Given the description of an element on the screen output the (x, y) to click on. 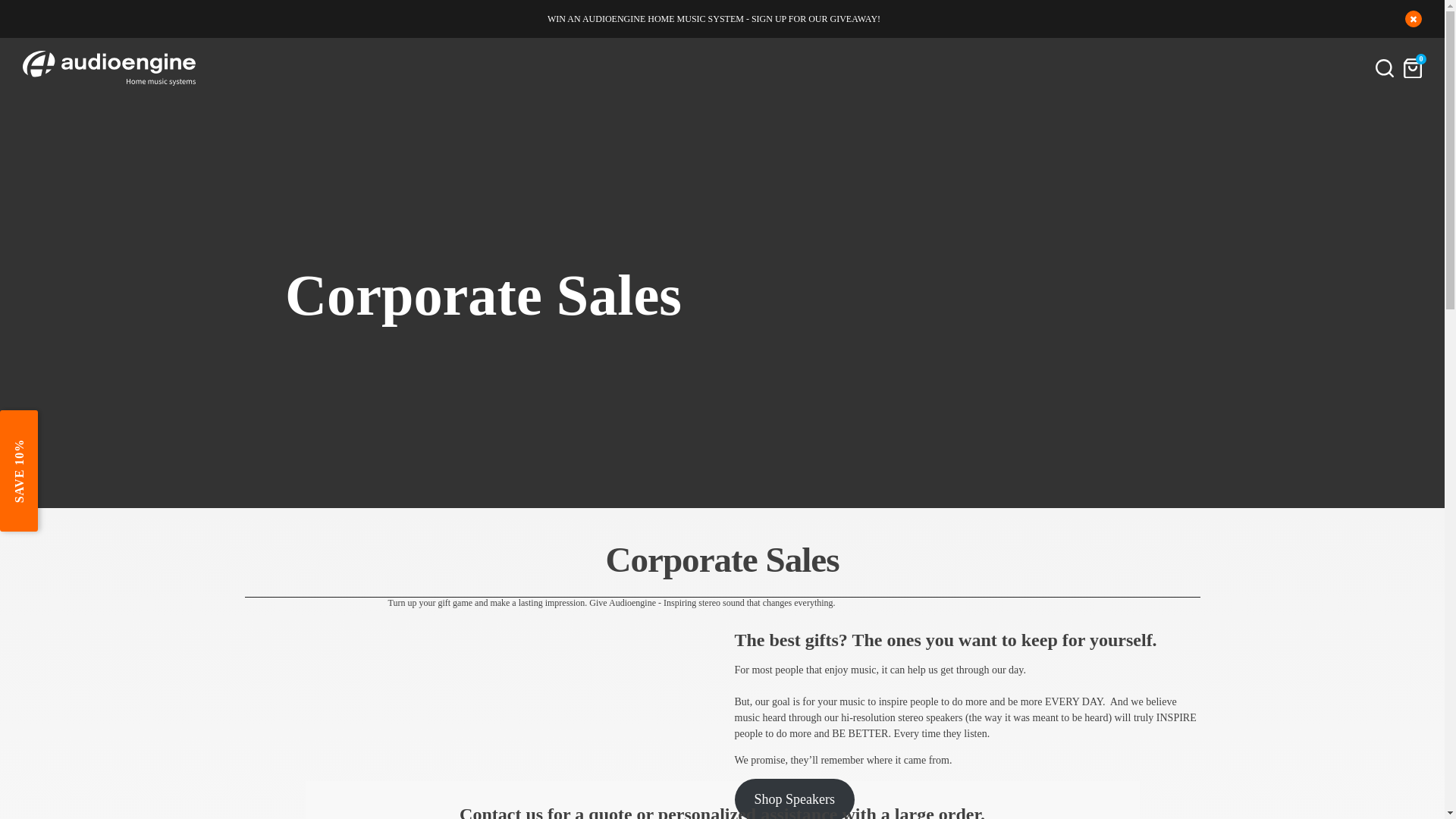
audioengine - link to home (109, 67)
Shop Speakers (793, 798)
